Given the description of an element on the screen output the (x, y) to click on. 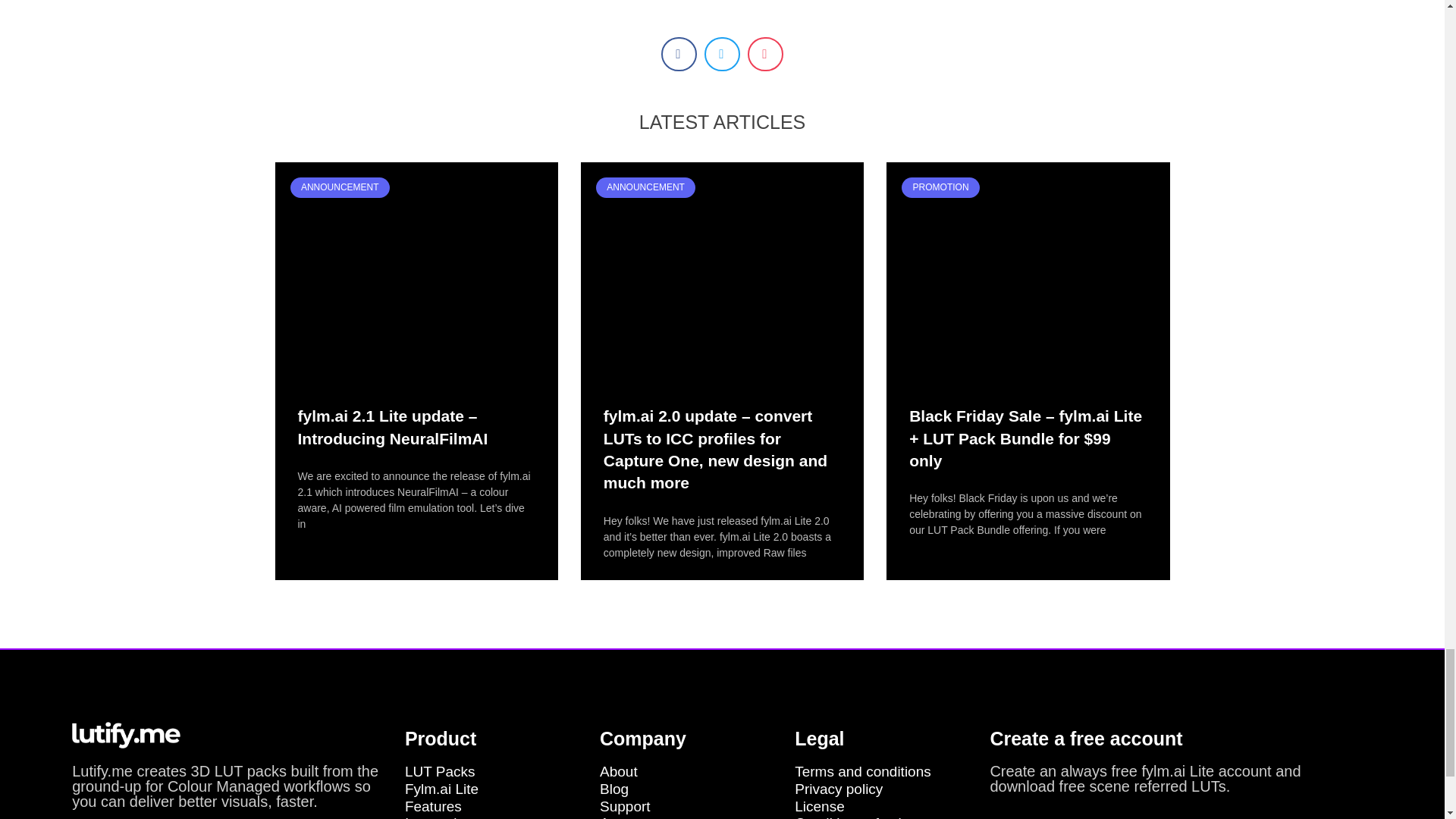
Features (494, 806)
Fylm.ai Lite (494, 789)
Integrations (494, 816)
LUT Packs (494, 772)
